Given the description of an element on the screen output the (x, y) to click on. 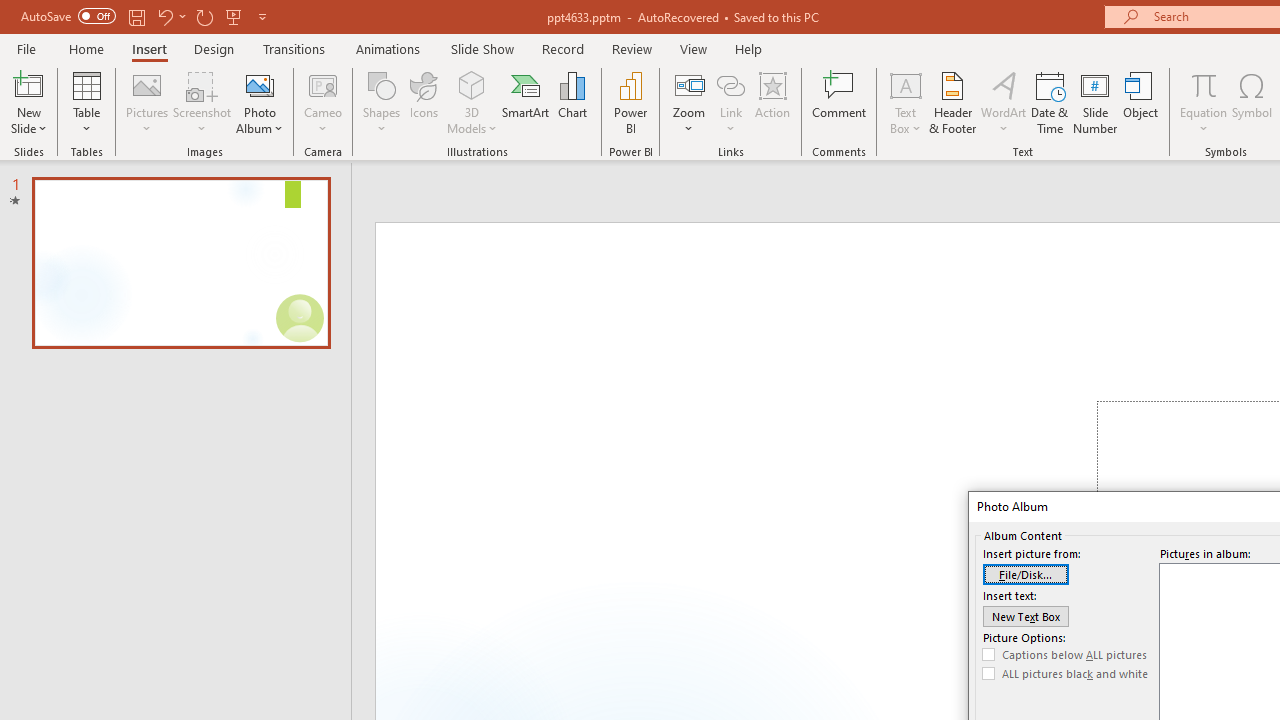
Icons (424, 102)
File/Disk... (1025, 574)
3D Models (472, 84)
Photo Album... (259, 102)
3D Models (472, 102)
Comment (839, 102)
